Given the description of an element on the screen output the (x, y) to click on. 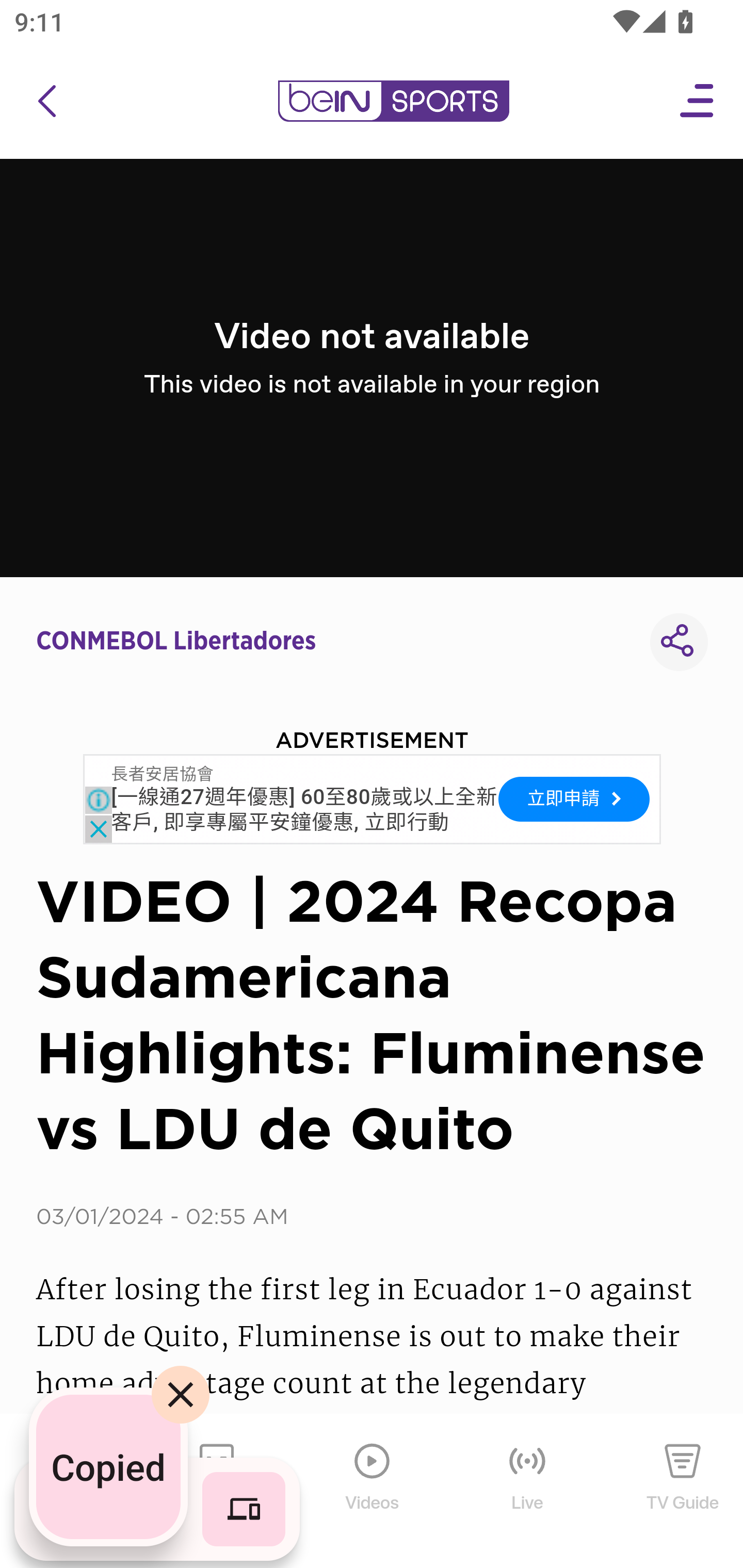
en-us?platform=mobile_android bein logo (392, 101)
icon back (46, 101)
Open Menu Icon (697, 101)
長者安居協會 (161, 774)
立即申請 (573, 799)
Videos Videos Icon Videos (372, 1491)
TV Guide TV Guide Icon TV Guide (682, 1491)
